Given the description of an element on the screen output the (x, y) to click on. 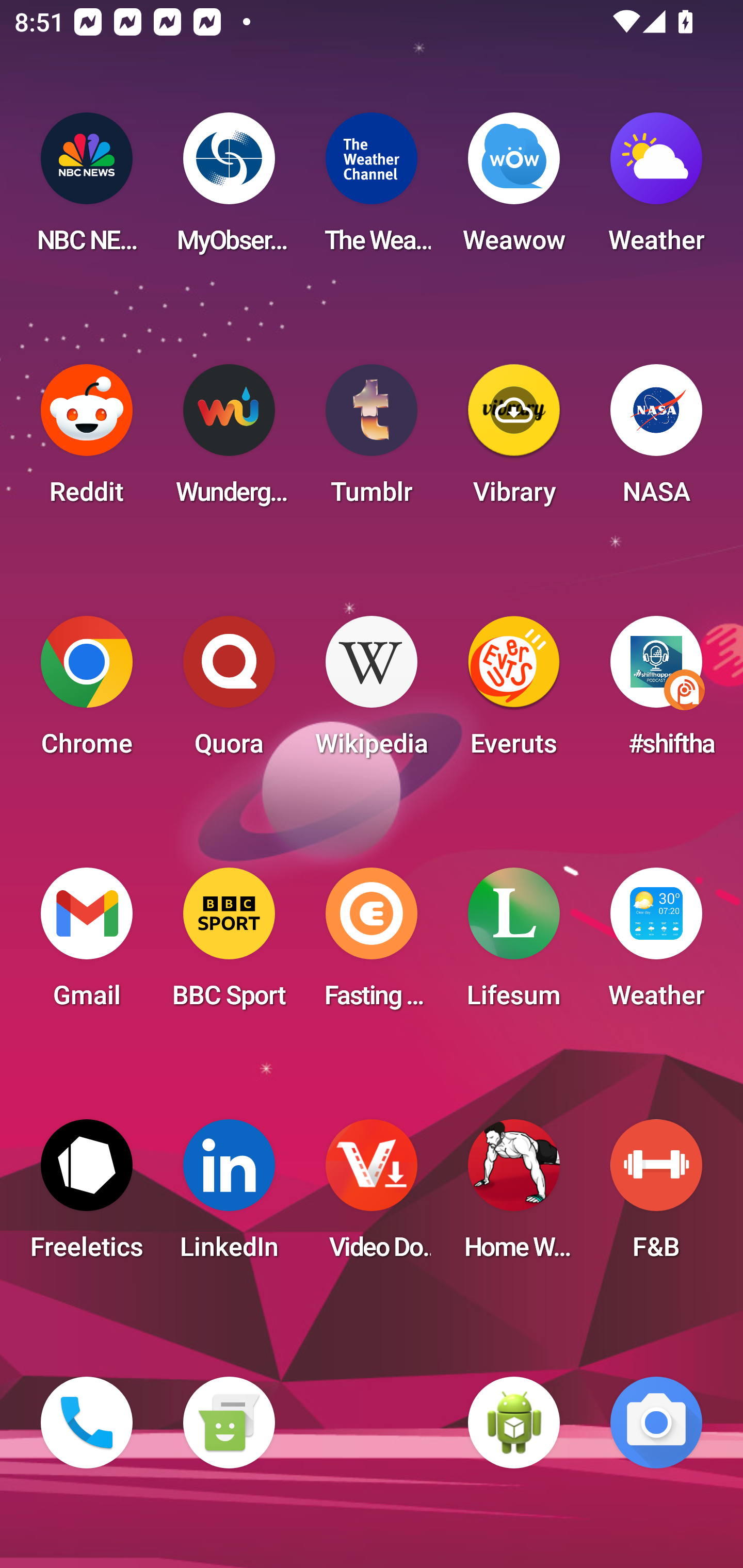
NBC NEWS (86, 188)
MyObservatory (228, 188)
The Weather Channel (371, 188)
Weawow (513, 188)
Weather (656, 188)
Reddit (86, 440)
Wunderground (228, 440)
Tumblr (371, 440)
Vibrary (513, 440)
NASA (656, 440)
Chrome (86, 692)
Quora (228, 692)
Wikipedia (371, 692)
Everuts (513, 692)
#shifthappens in the Digital Workplace Podcast (656, 692)
Gmail (86, 943)
BBC Sport (228, 943)
Fasting Coach (371, 943)
Lifesum (513, 943)
Weather (656, 943)
Freeletics (86, 1195)
LinkedIn (228, 1195)
Video Downloader & Ace Player (371, 1195)
Home Workout (513, 1195)
F&B (656, 1195)
Phone (86, 1422)
Messaging (228, 1422)
WebView Browser Tester (513, 1422)
Camera (656, 1422)
